Given the description of an element on the screen output the (x, y) to click on. 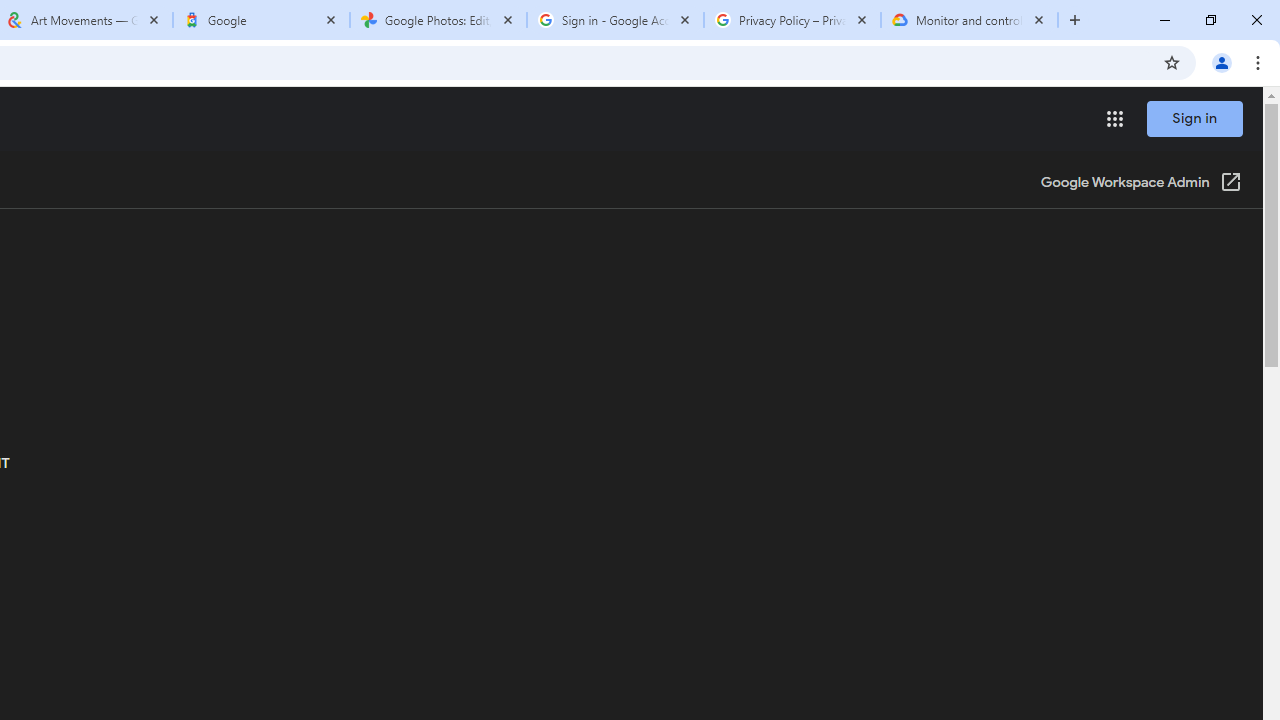
Google Workspace Admin (Open in a new window) (1140, 183)
